Given the description of an element on the screen output the (x, y) to click on. 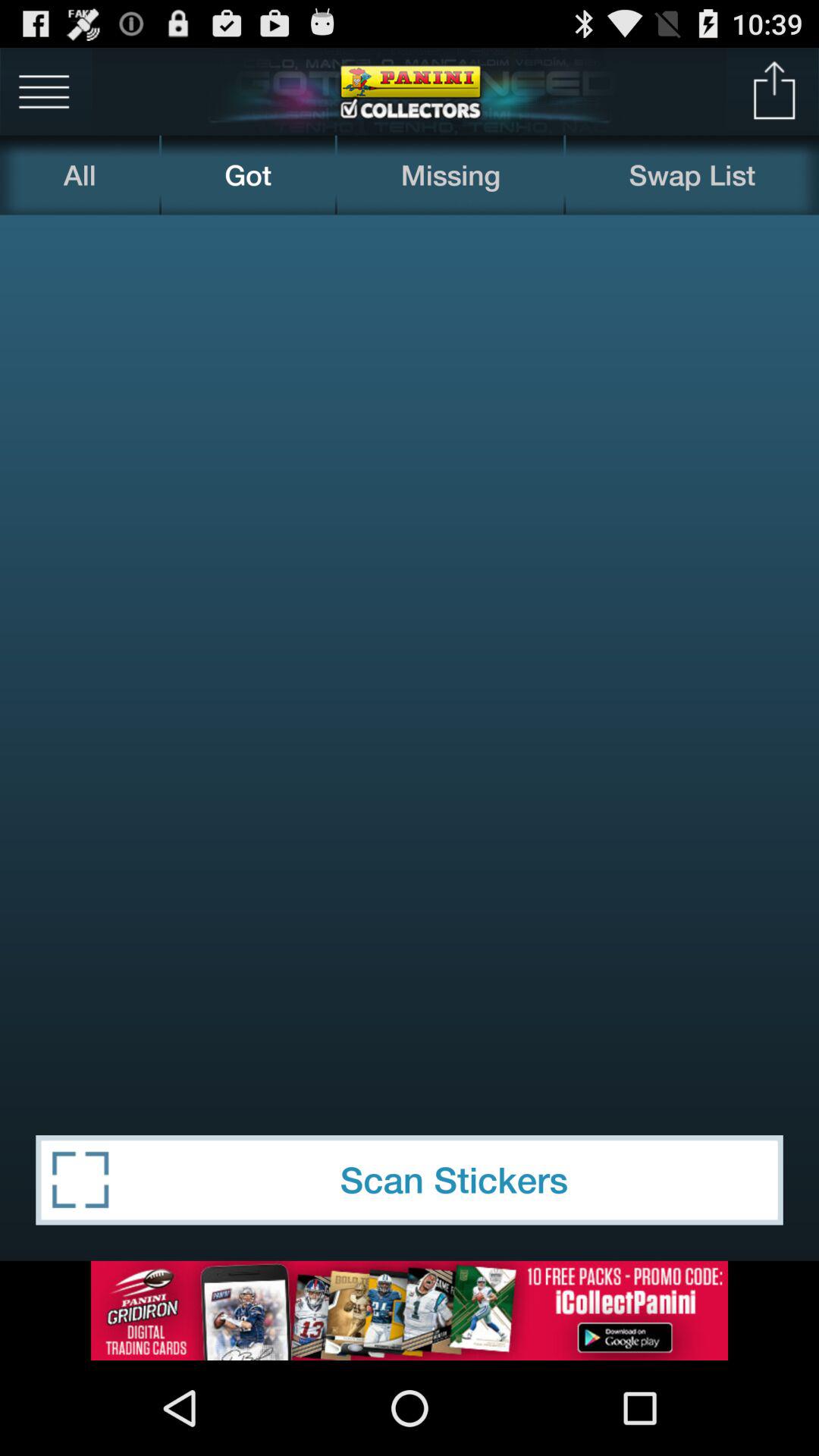
menu bar (43, 91)
